Given the description of an element on the screen output the (x, y) to click on. 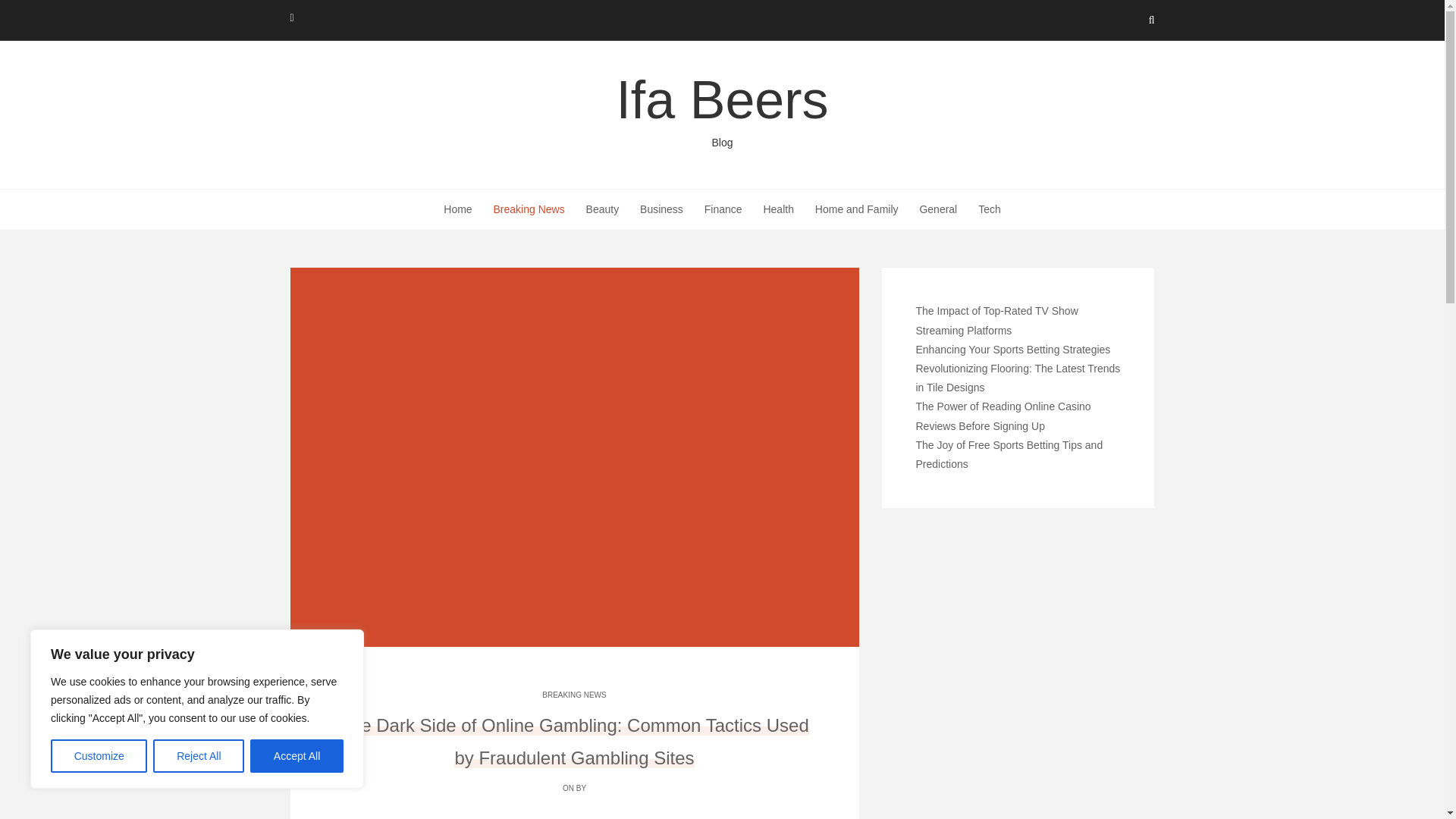
Accept All (296, 756)
Ifa Beers (721, 110)
Reject All (721, 110)
Customize (198, 756)
